Given the description of an element on the screen output the (x, y) to click on. 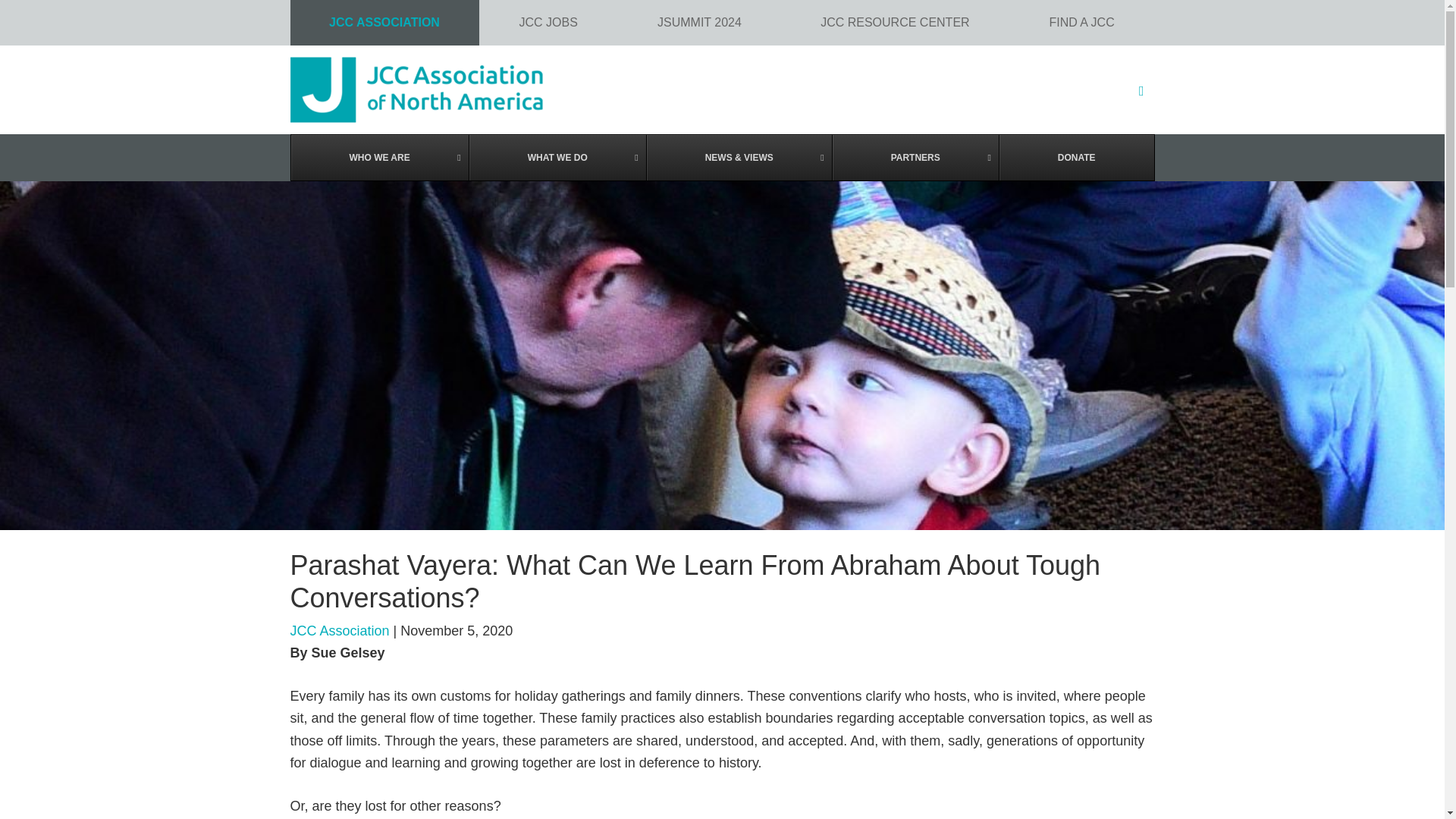
JCC JOBS (548, 22)
JCC RESOURCE CENTER (894, 22)
JCC Association of North America (721, 89)
JCC ASSOCIATION (384, 22)
JSUMMIT 2024 (698, 22)
FIND A JCC (1081, 22)
